Given the description of an element on the screen output the (x, y) to click on. 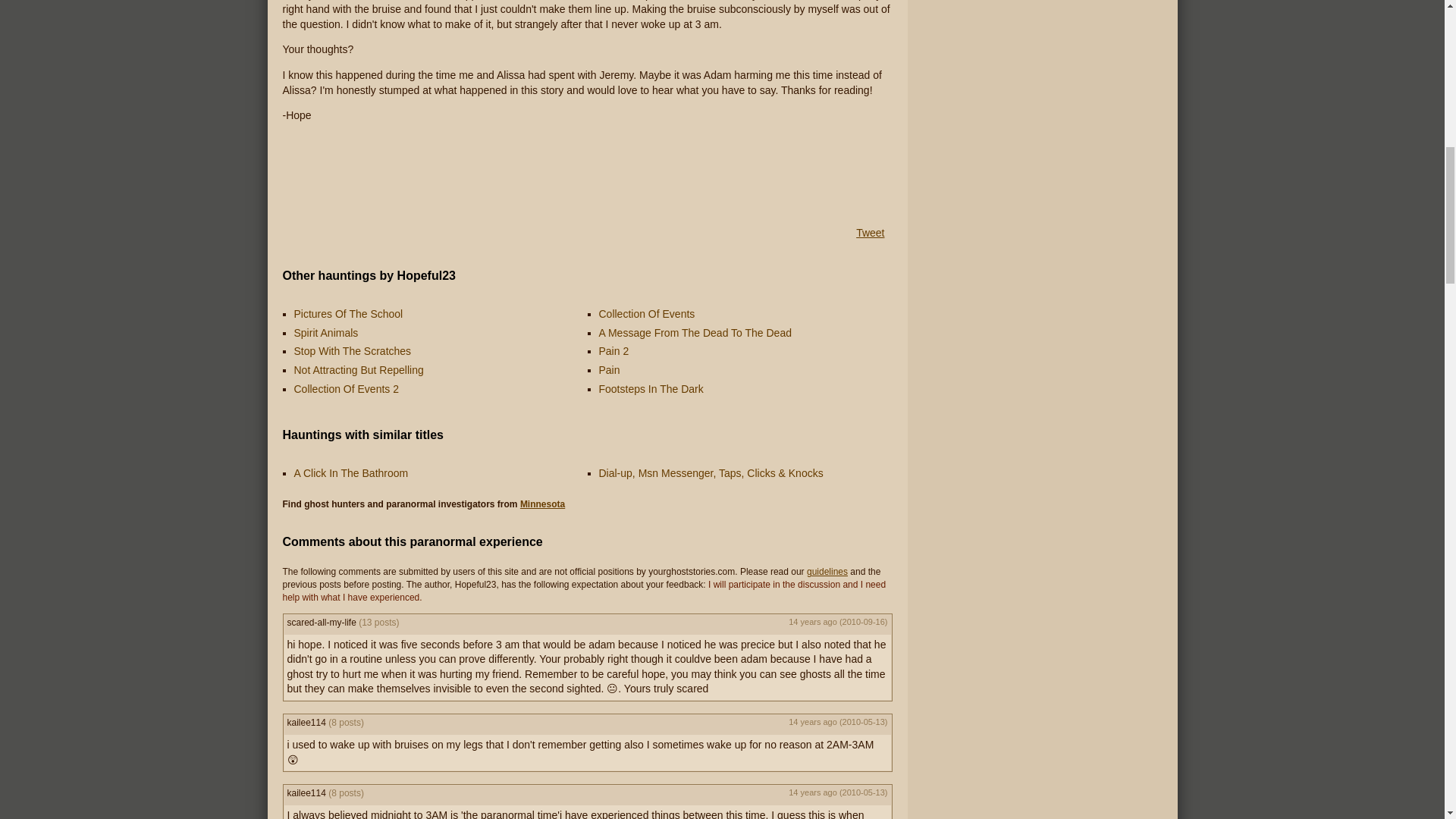
Tweet (869, 232)
Collection Of Events 2 (346, 387)
Not Attracting But Repelling (358, 369)
A Message From The Dead To The Dead (695, 332)
Stop With The Scratches (353, 350)
Pictures Of The School (348, 313)
Spirit Animals (326, 332)
Collection Of Events (646, 313)
Pain 2 (613, 350)
